Given the description of an element on the screen output the (x, y) to click on. 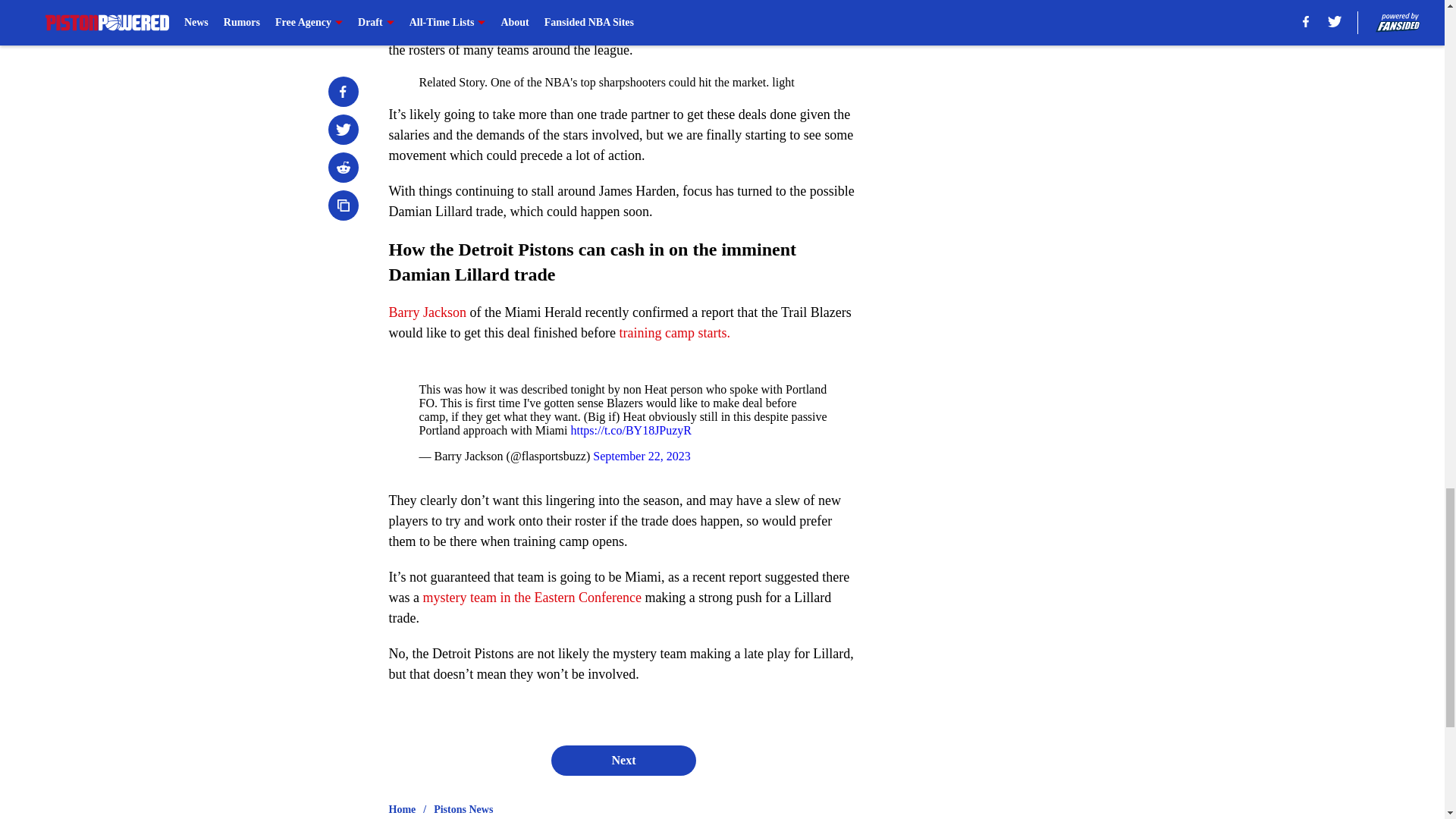
Home (401, 809)
Pistons News (463, 809)
Barry Jackson (426, 312)
September 22, 2023 (641, 455)
mystery team in the Eastern Conference (531, 597)
Next (622, 760)
training camp starts. (673, 332)
